Given the description of an element on the screen output the (x, y) to click on. 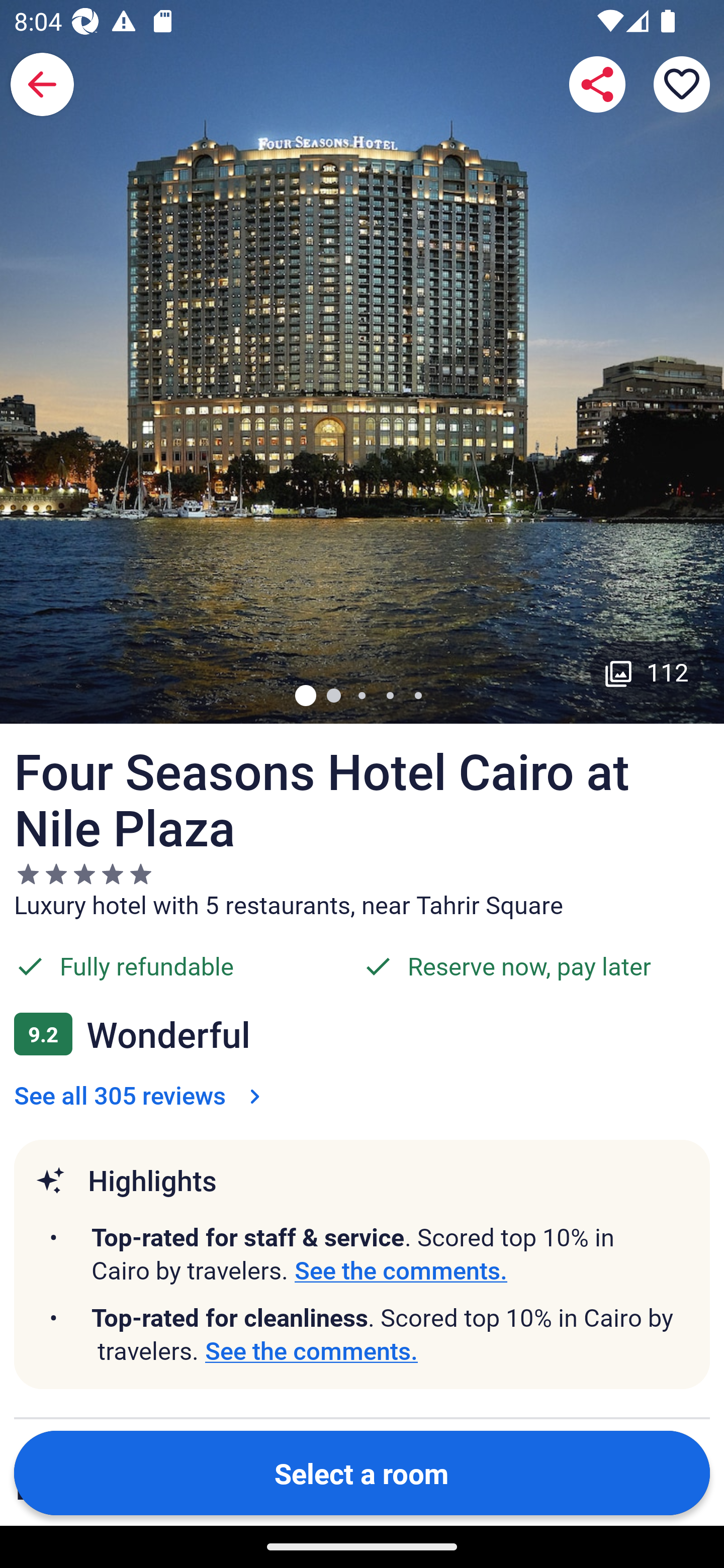
Back (42, 84)
Save property to a trip (681, 84)
Share Four Seasons Hotel Cairo at Nile Plaza (597, 84)
Gallery button with 112 images (646, 671)
See all 305 reviews See all 305 reviews Link (140, 1094)
Select a room Button Select a room (361, 1472)
